Given the description of an element on the screen output the (x, y) to click on. 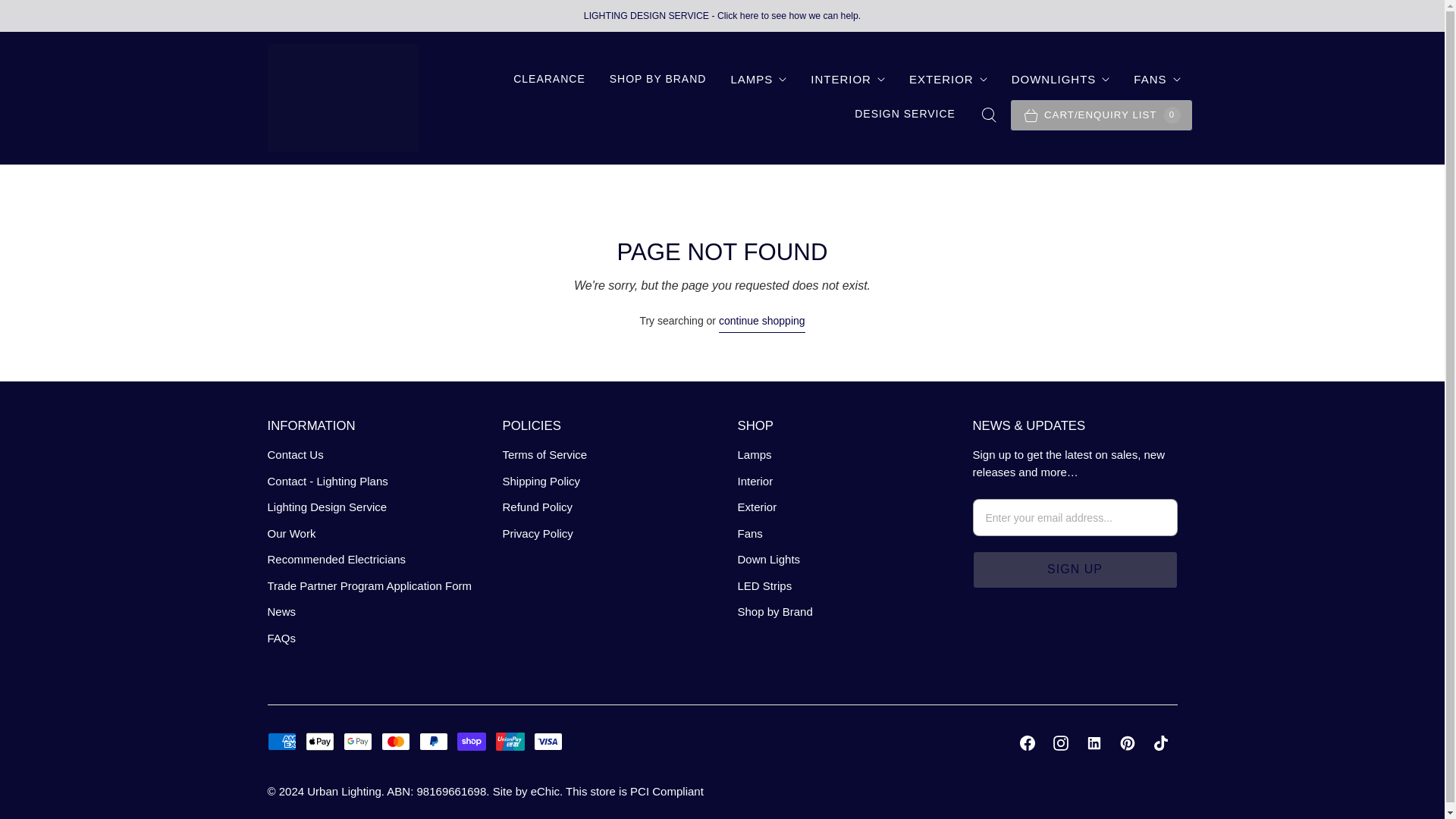
Apple Pay (319, 741)
American Express (280, 741)
Mastercard (395, 741)
PayPal (433, 741)
Visa (548, 741)
Sign Up (1074, 569)
Union Pay (510, 741)
CLEARANCE (548, 79)
Google Pay (357, 741)
SHOP BY BRAND (657, 79)
Shop Pay (471, 741)
